Given the description of an element on the screen output the (x, y) to click on. 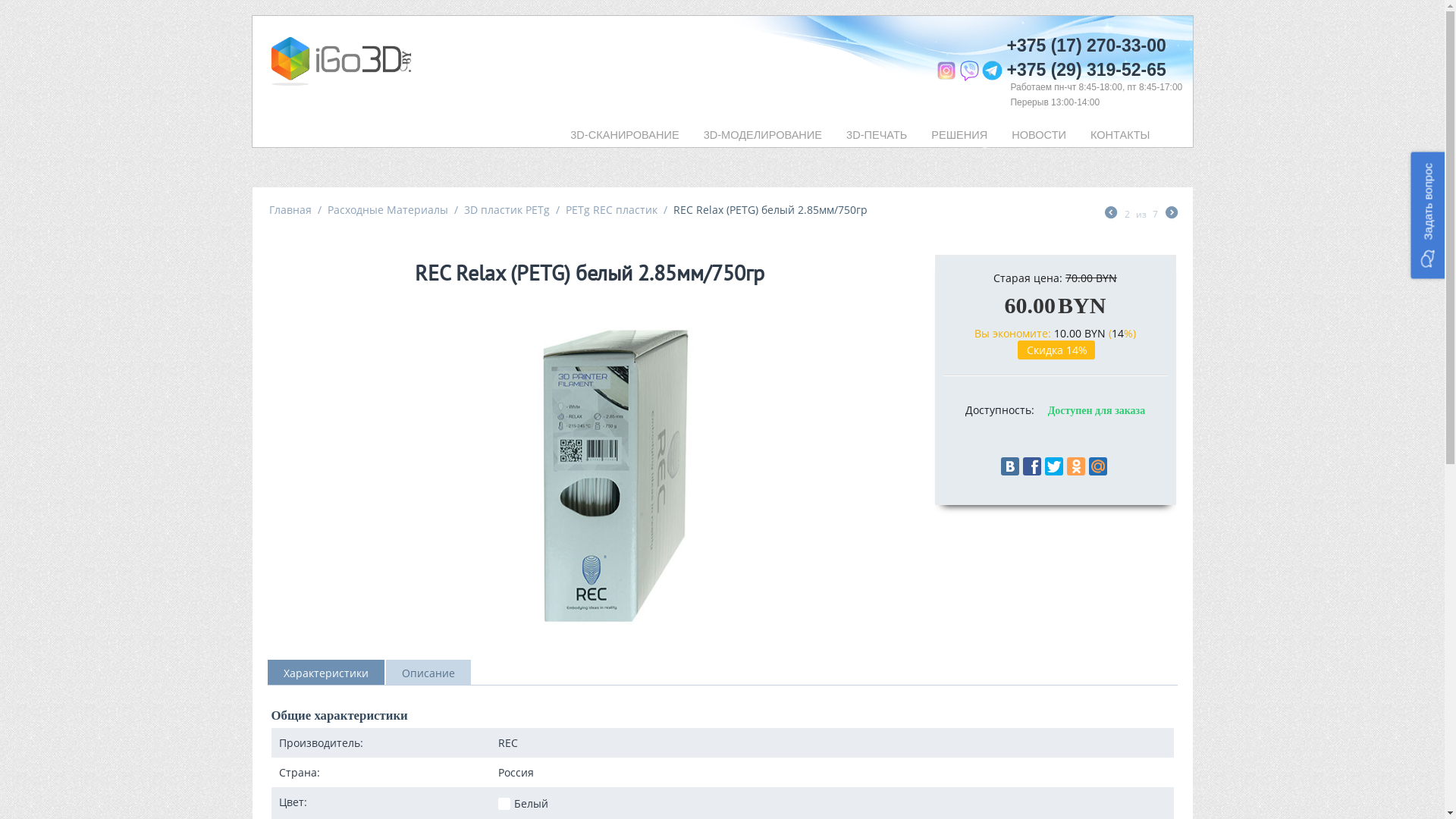
Twitter Element type: hover (1053, 466)
+375 (29) 319-52-65 Element type: text (1094, 69)
Facebook Element type: hover (1031, 466)
+375 (17) 270-33-00 Element type: text (1085, 45)
